Given the description of an element on the screen output the (x, y) to click on. 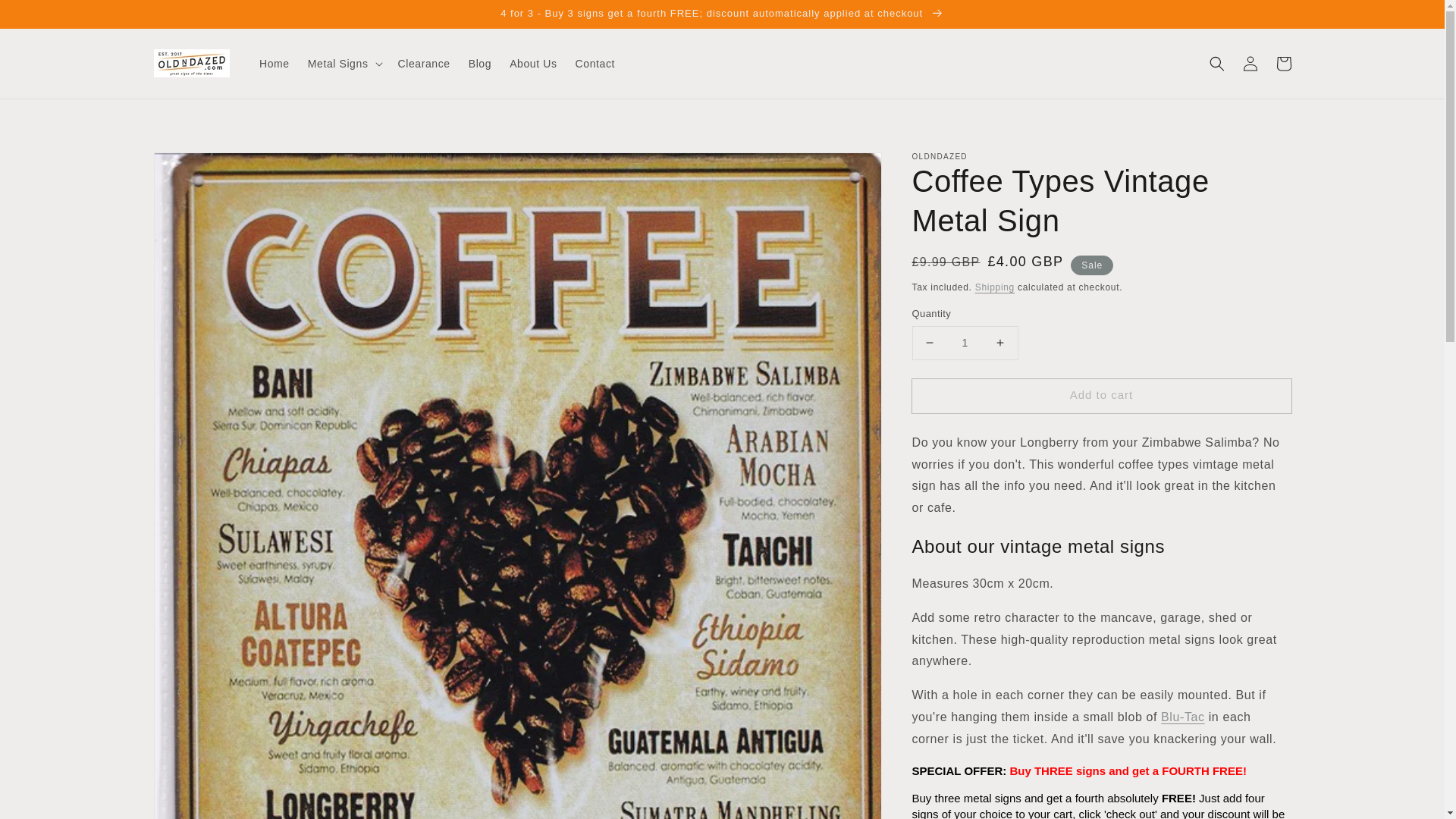
Log in (1249, 63)
Home (274, 63)
1 (964, 342)
Cart (1283, 63)
Contact (595, 63)
Skip to content (45, 16)
Skip to product information (198, 168)
Blog (480, 63)
About Us (533, 63)
Clearance (423, 63)
